Given the description of an element on the screen output the (x, y) to click on. 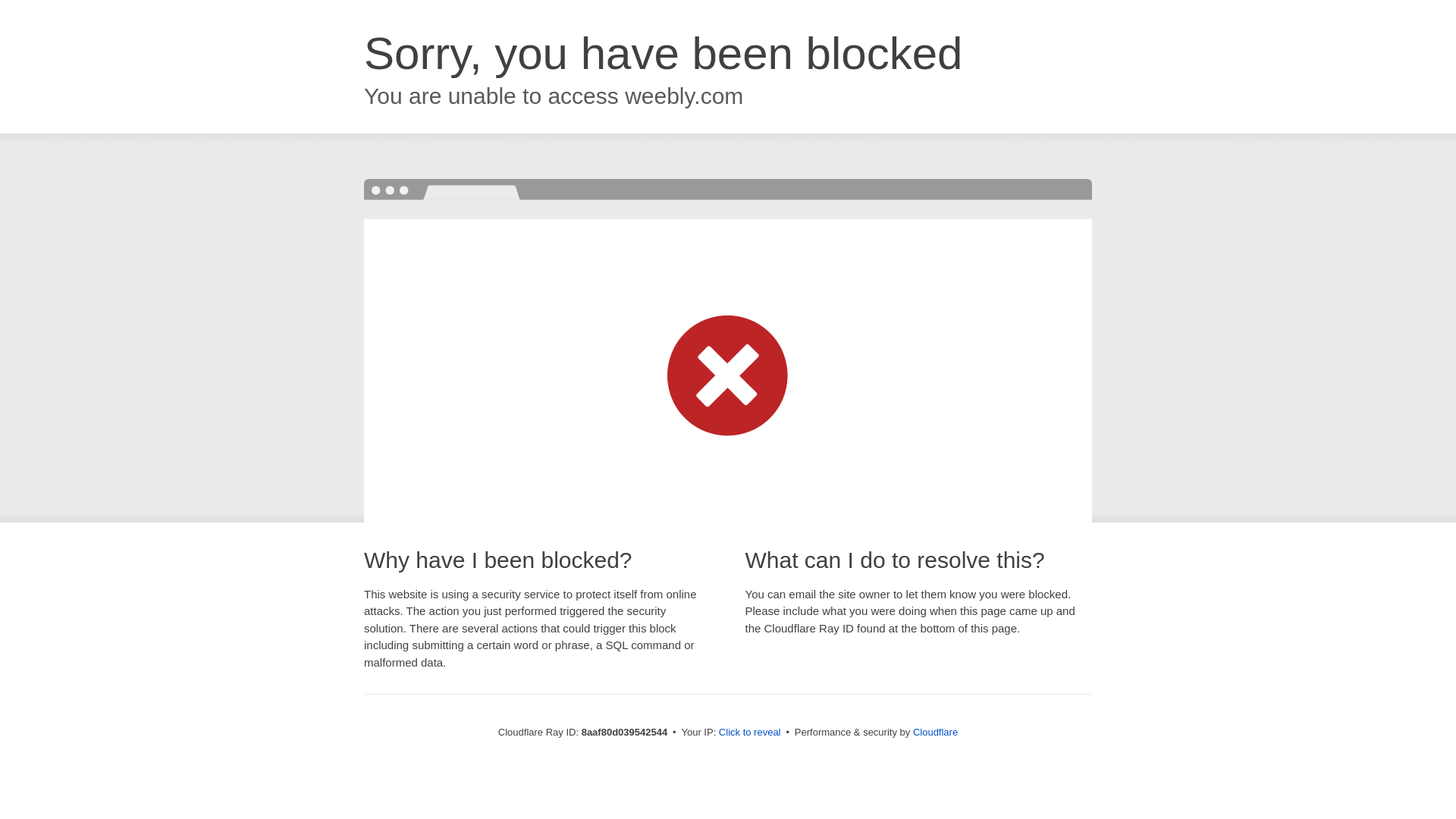
Cloudflare (935, 731)
Click to reveal (749, 732)
